Given the description of an element on the screen output the (x, y) to click on. 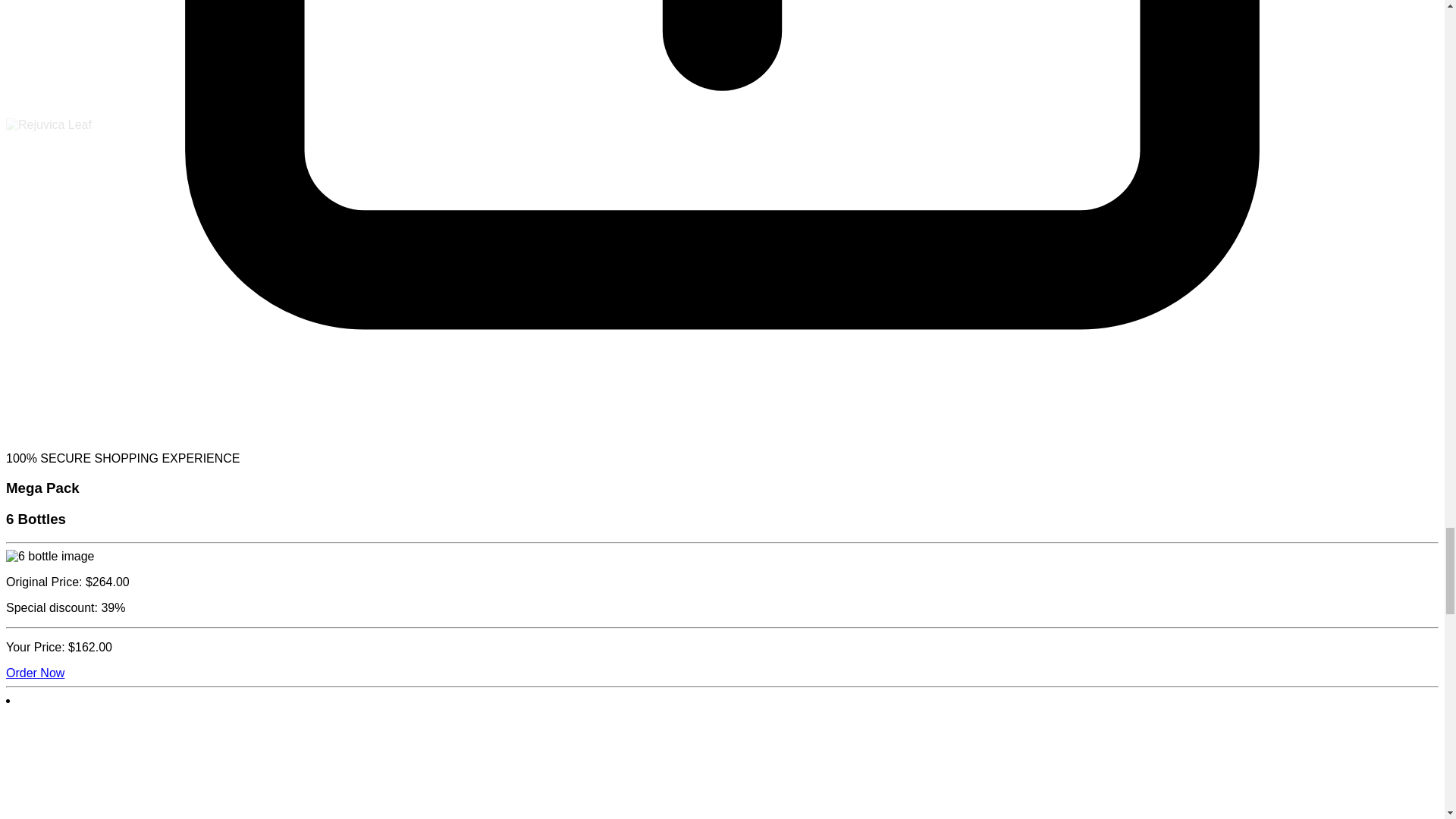
Order Now (34, 671)
